Given the description of an element on the screen output the (x, y) to click on. 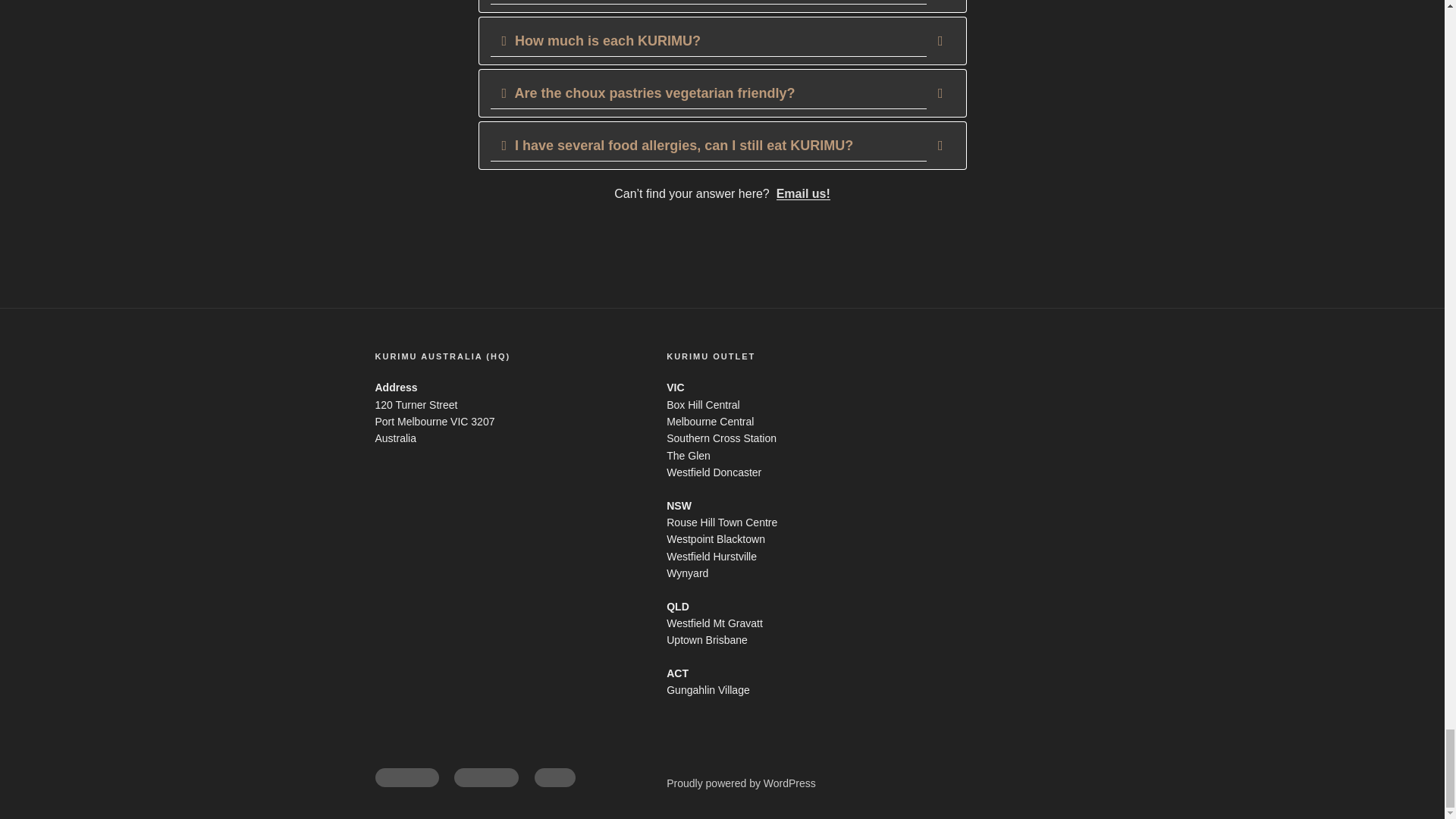
Proudly powered by WordPress (740, 783)
Instagram (486, 777)
Email us! (802, 193)
Facebook (406, 777)
Are the choux pastries vegetarian friendly? (721, 92)
Email (554, 777)
How much is each KURIMU? (721, 40)
I have several food allergies, can I still eat KURIMU? (721, 145)
